Given the description of an element on the screen output the (x, y) to click on. 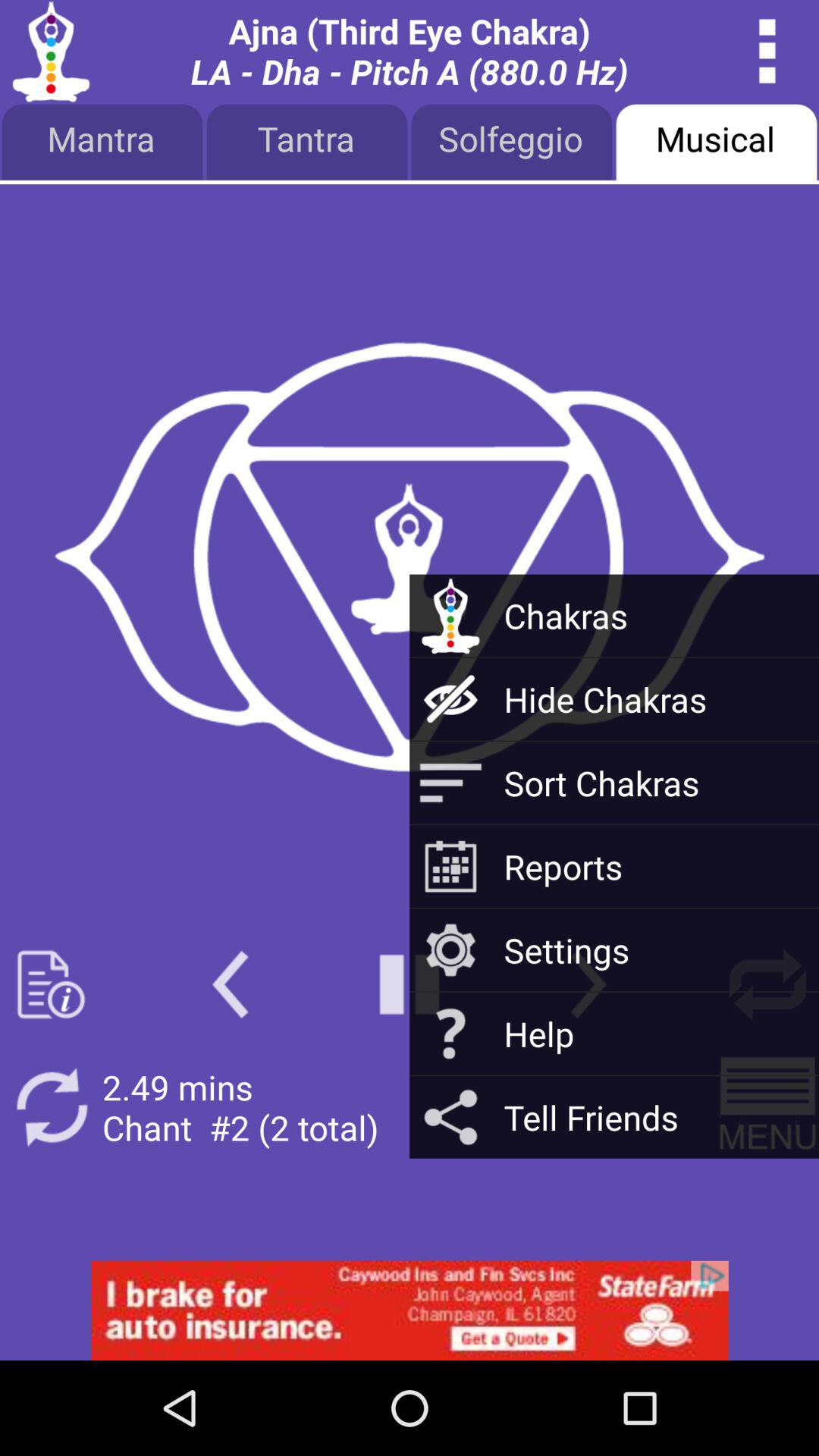
rewind the chakra (230, 984)
